Given the description of an element on the screen output the (x, y) to click on. 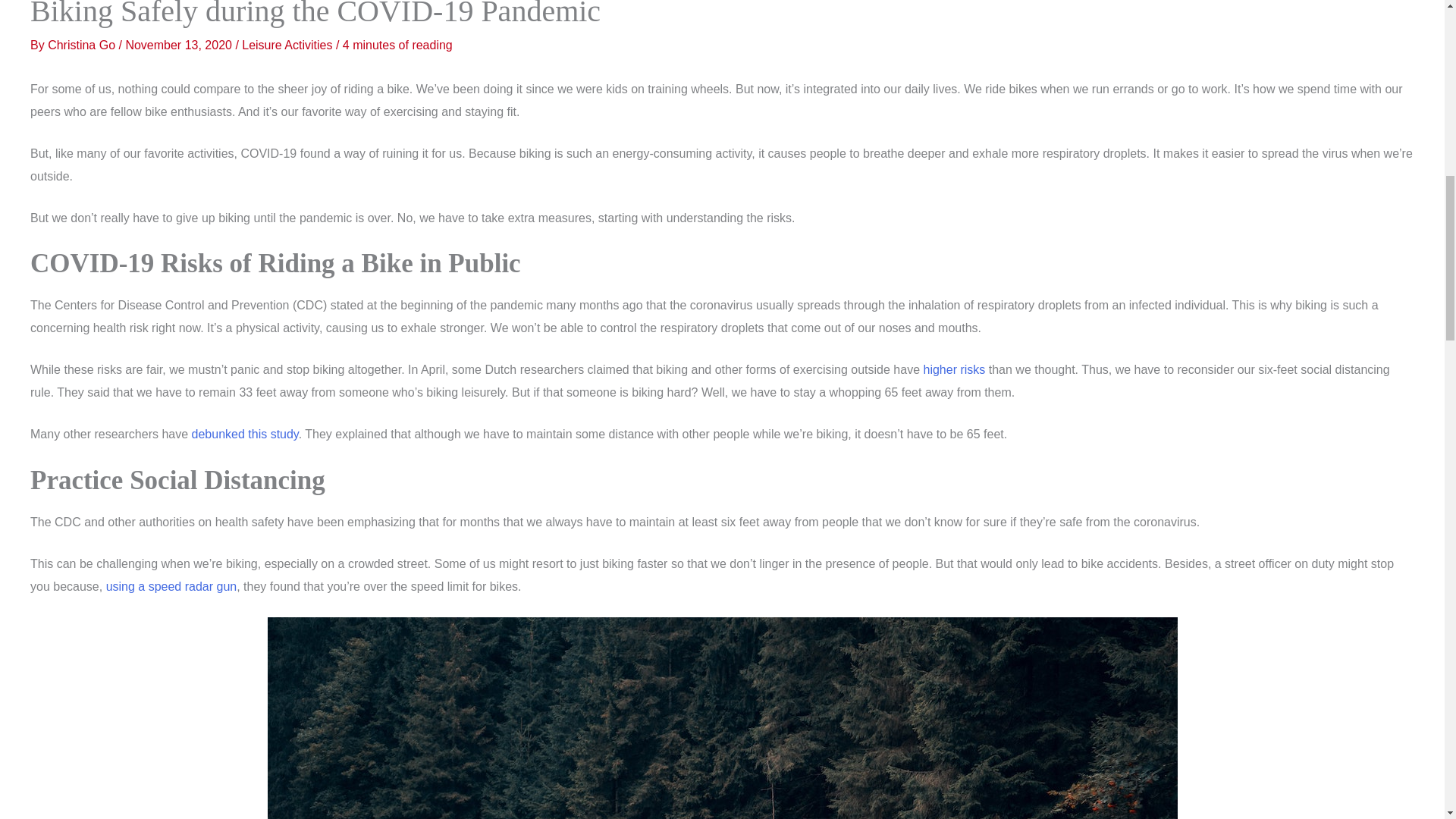
higher risks (954, 369)
Christina Go (82, 44)
Leisure Activities (286, 44)
debunked this study (245, 433)
View all posts by Christina Go (82, 44)
using a speed radar gun (171, 585)
